Given the description of an element on the screen output the (x, y) to click on. 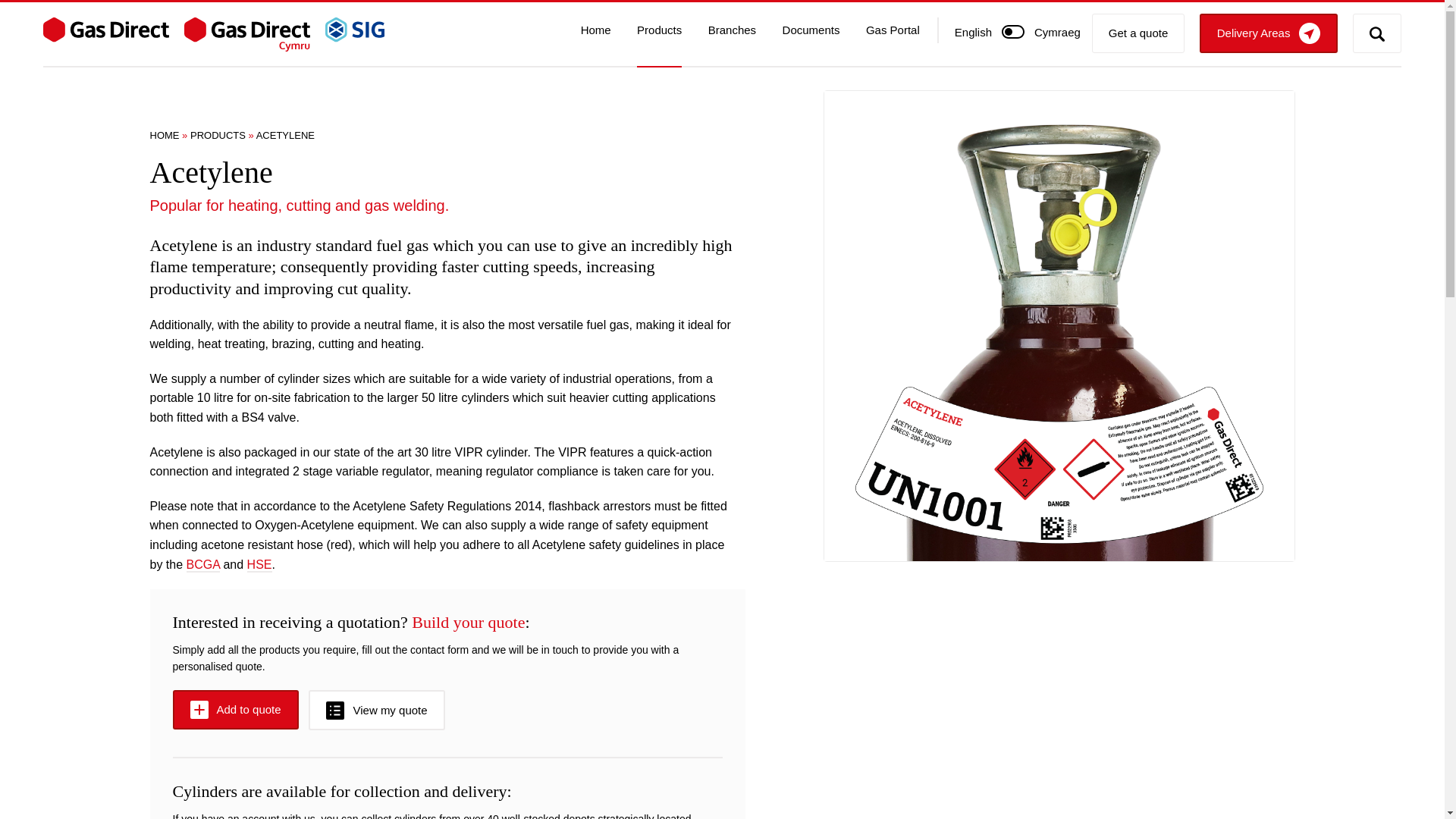
Get a quote (1138, 33)
Delivery Areas (1268, 33)
PRODUCTS (218, 134)
HOME (164, 134)
Branches (731, 43)
Products (659, 43)
Documents (811, 43)
HSE (259, 564)
Gas Portal (893, 43)
BCGA (202, 564)
